Given the description of an element on the screen output the (x, y) to click on. 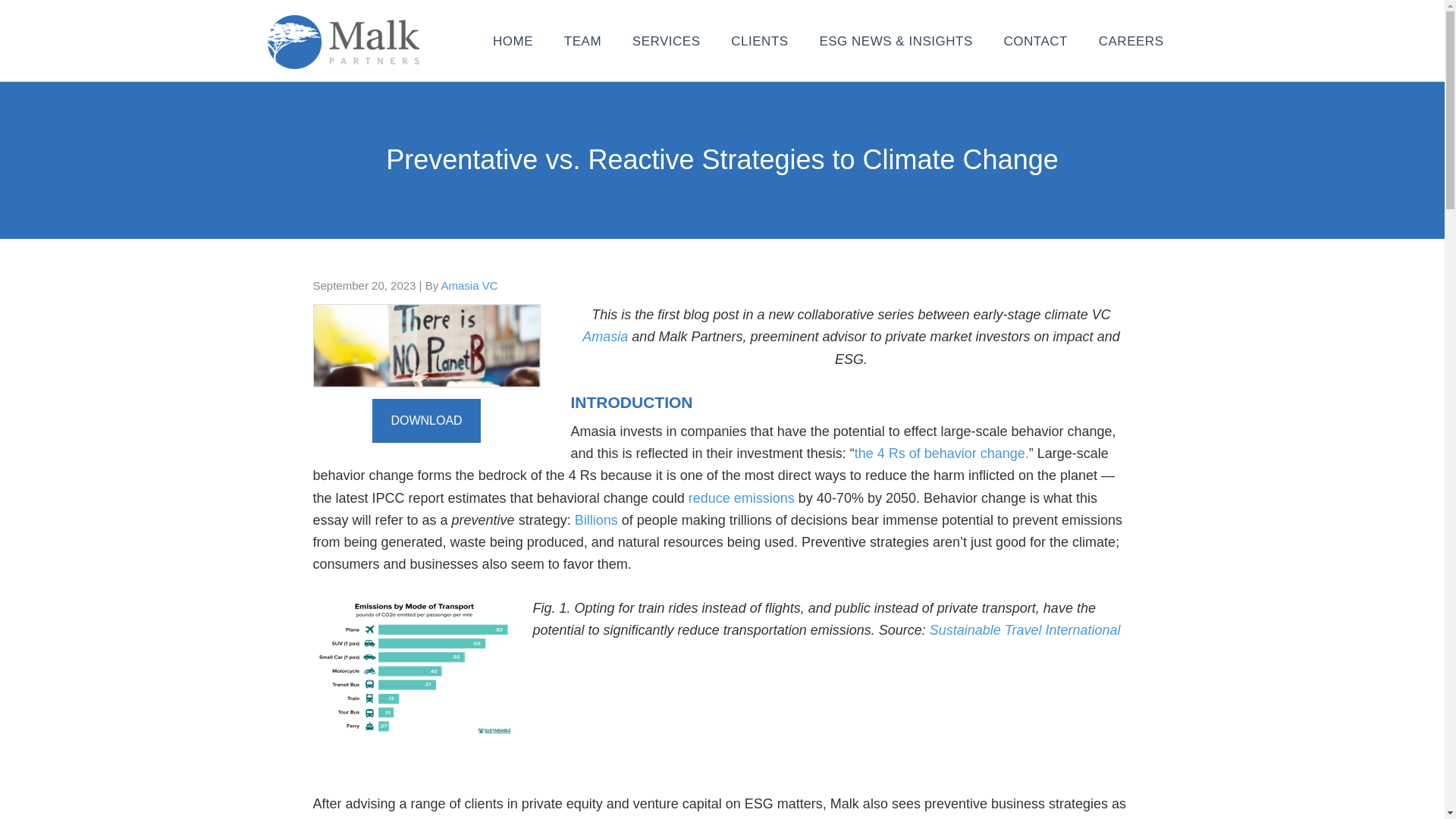
reduce emissions (741, 498)
HOME (513, 41)
Amasia (604, 336)
DOWNLOAD (426, 420)
CONTACT (1035, 41)
CAREERS (1130, 41)
the 4 Rs of behavior change. (941, 453)
Billions (596, 519)
SERVICES (666, 41)
TEAM (582, 41)
